Given the description of an element on the screen output the (x, y) to click on. 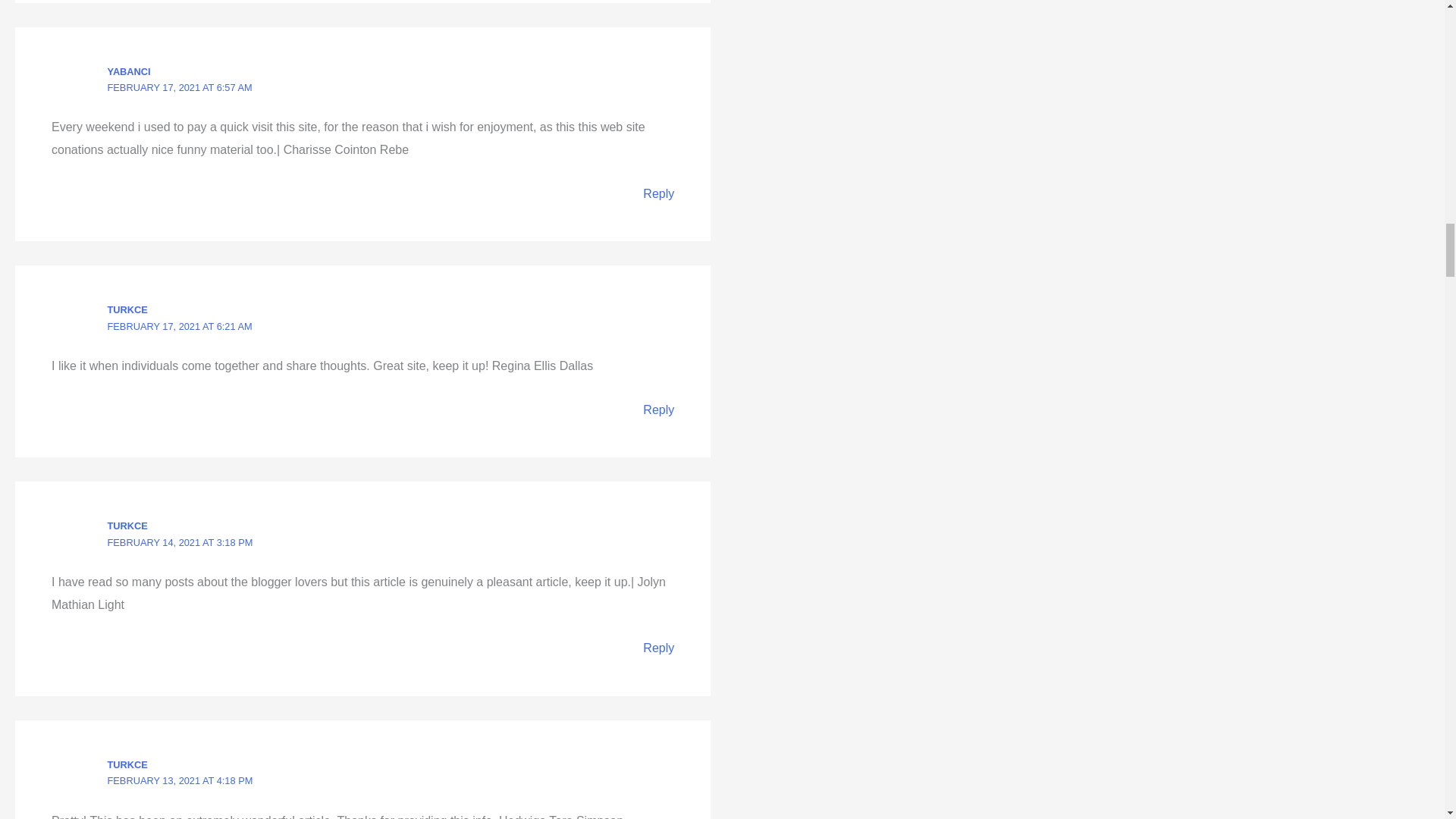
TURKCE (127, 764)
Reply (658, 647)
FEBRUARY 17, 2021 AT 6:21 AM (179, 326)
Reply (658, 409)
YABANCI (129, 71)
FEBRUARY 17, 2021 AT 6:57 AM (179, 87)
FEBRUARY 13, 2021 AT 4:18 PM (180, 780)
FEBRUARY 14, 2021 AT 3:18 PM (180, 542)
TURKCE (127, 309)
Reply (658, 193)
TURKCE (127, 525)
